Given the description of an element on the screen output the (x, y) to click on. 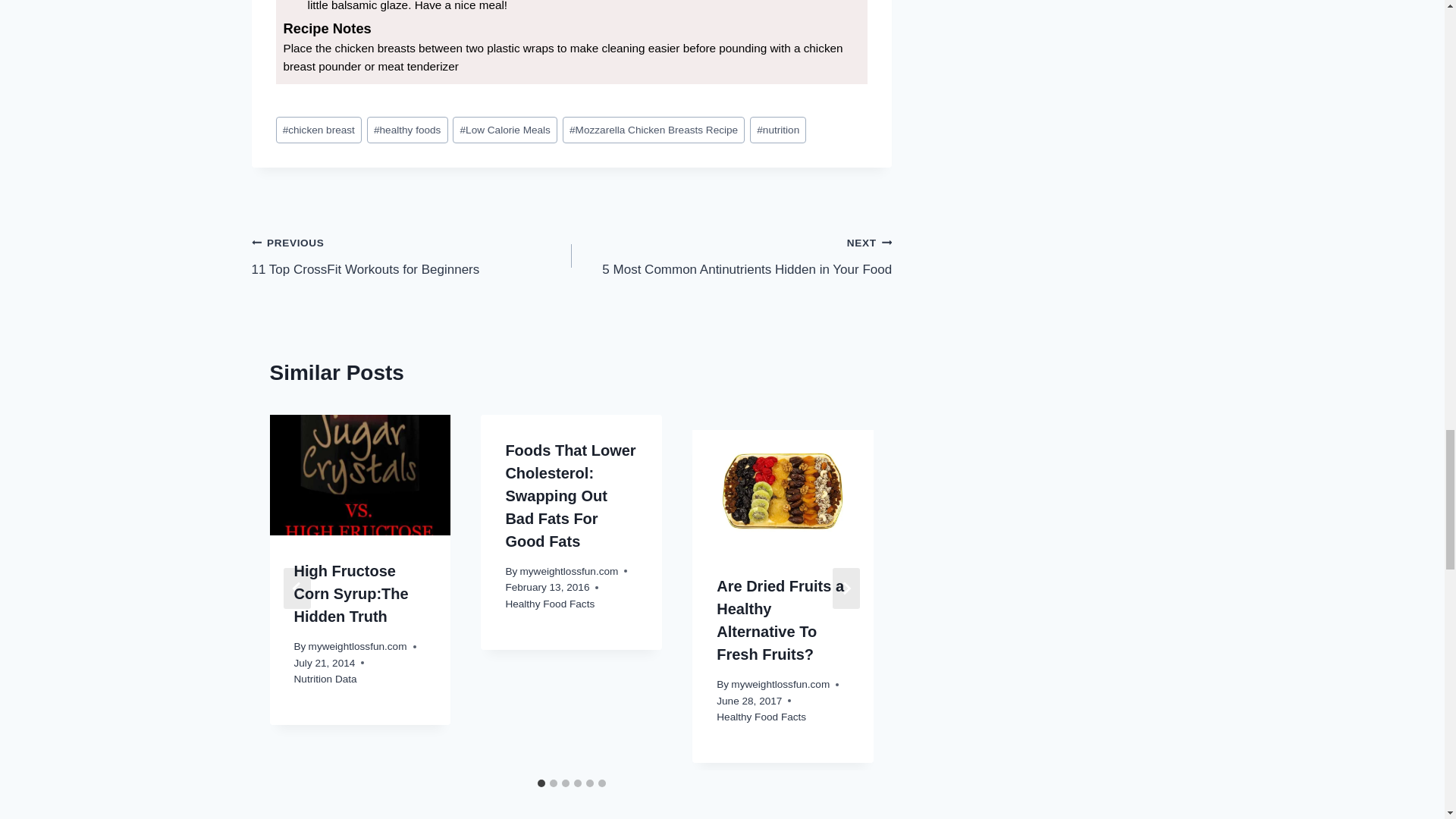
Low Calorie Meals (504, 130)
chicken breast (319, 130)
High Fructose Corn Syrup:The Hidden Truth 4 (731, 255)
myweightlossfun.com (360, 474)
High Fructose Corn Syrup:The Hidden Truth (357, 645)
nutrition (351, 593)
healthy foods (411, 255)
Mozzarella Chicken Breasts Recipe (777, 130)
